Given the description of an element on the screen output the (x, y) to click on. 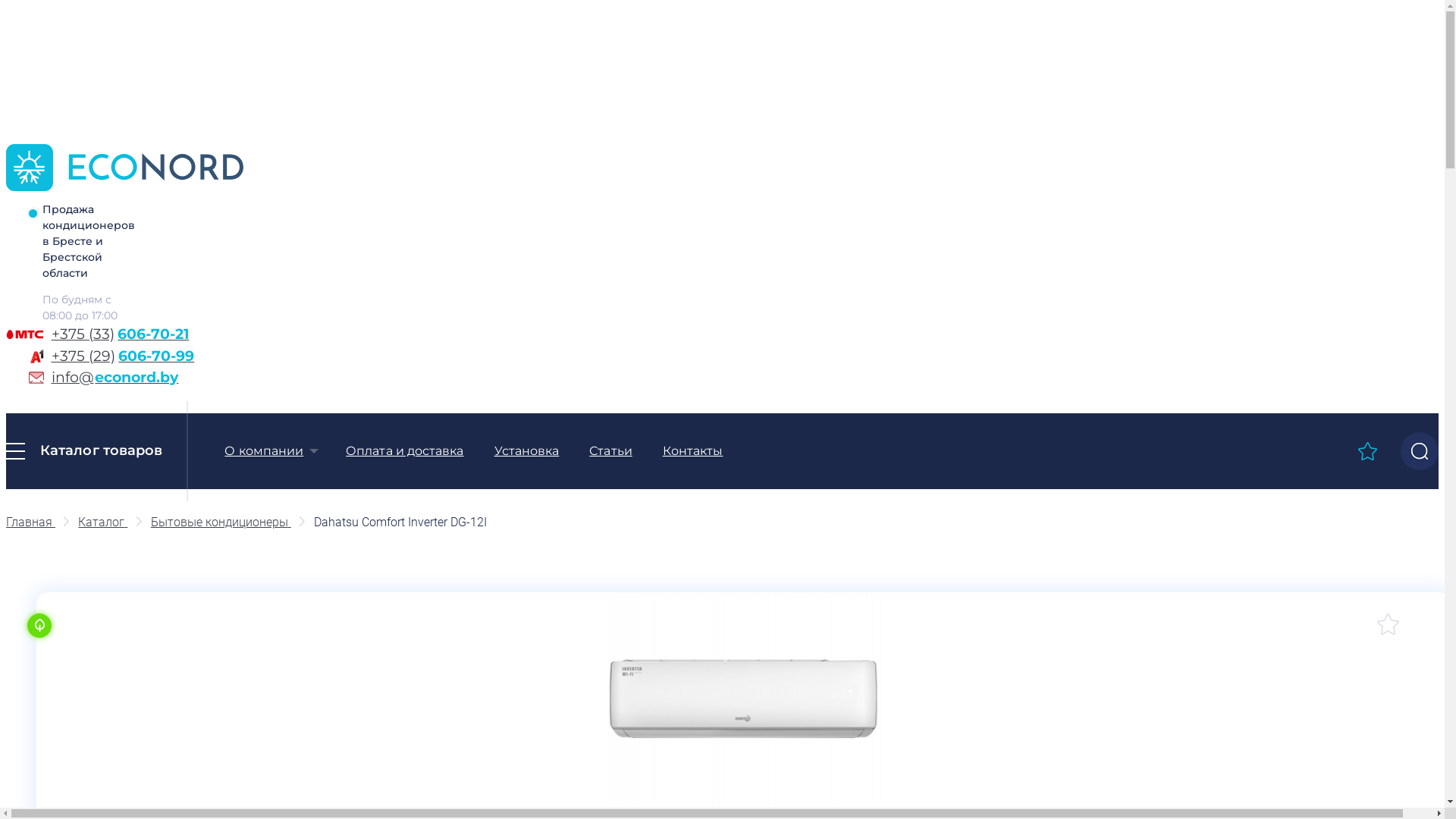
info@
econord.by Element type: text (185, 378)
+375 (33)
606-70-21 Element type: text (185, 334)
+375 (29)
606-70-99 Element type: text (185, 356)
